Given the description of an element on the screen output the (x, y) to click on. 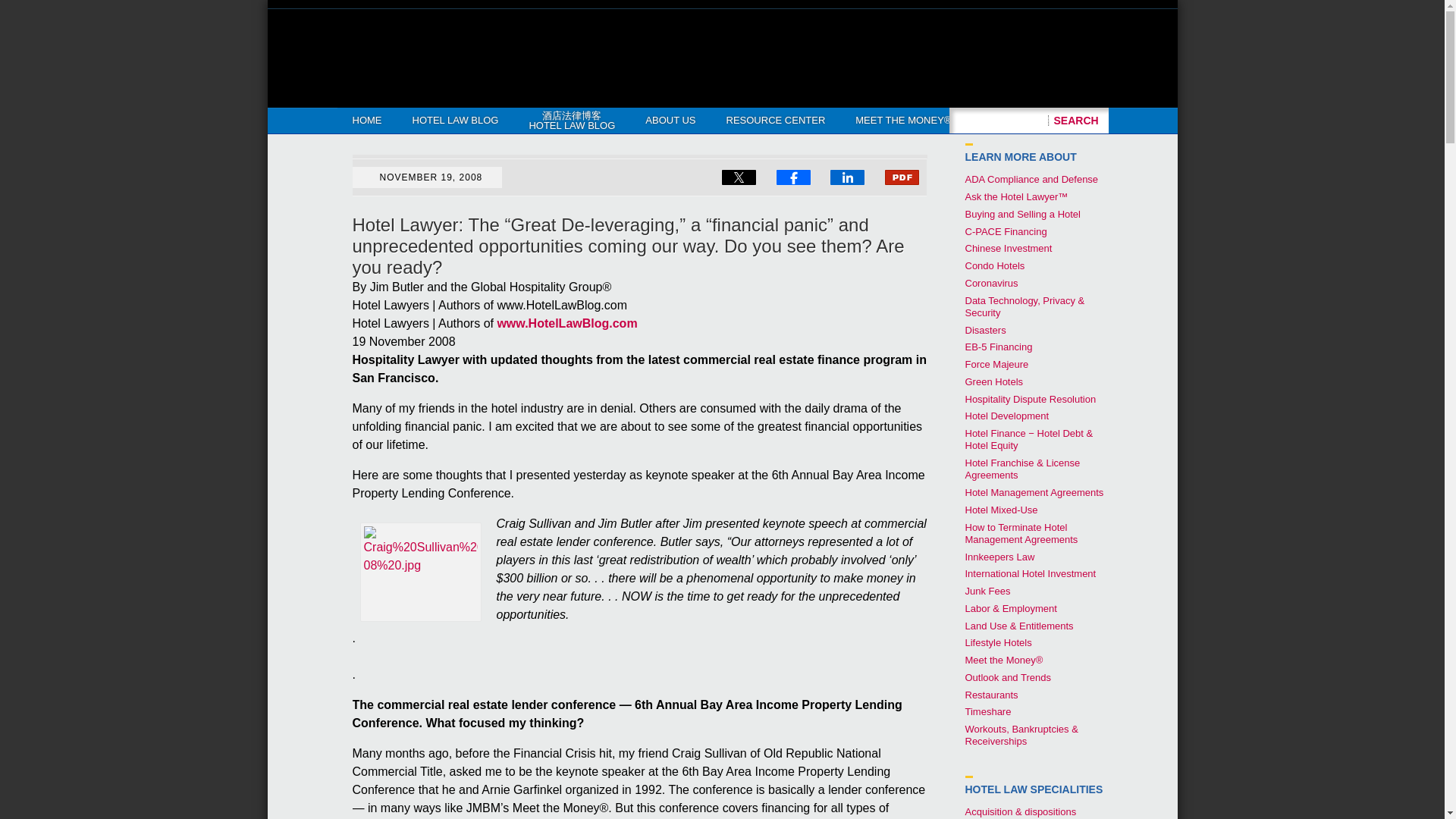
HOTEL LAW BLOG (455, 120)
RESOURCE CENTER (776, 120)
www.HotelLawBlog.com (566, 323)
HOME (366, 120)
Hotel Law Blog (414, 53)
ABOUT US (670, 120)
CONTACT US (1012, 120)
